Given the description of an element on the screen output the (x, y) to click on. 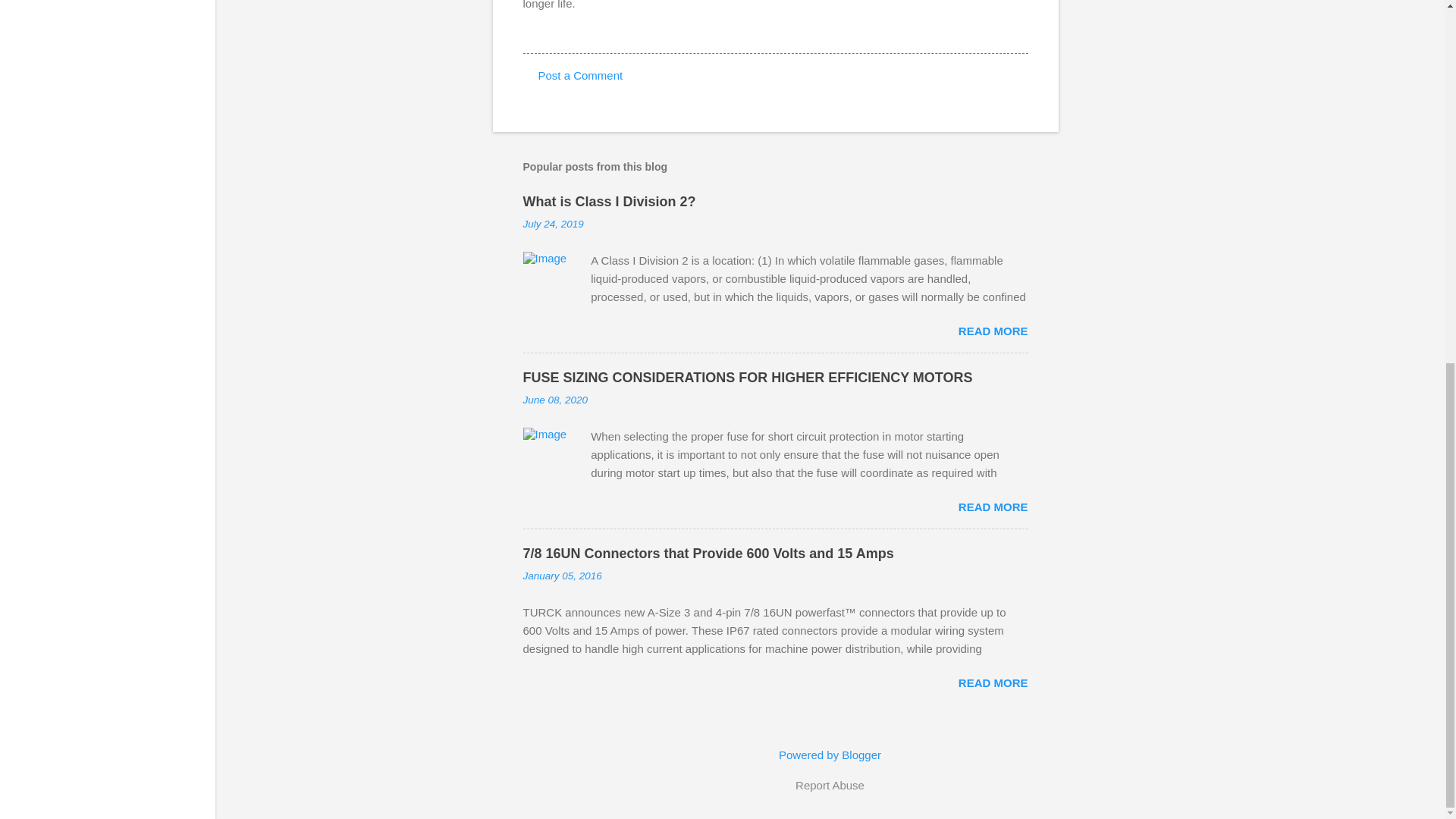
January 05, 2016 (562, 575)
What is Class I Division 2? (608, 201)
READ MORE (992, 330)
FUSE SIZING CONSIDERATIONS FOR HIGHER EFFICIENCY MOTORS (747, 377)
permanent link (552, 224)
READ MORE (992, 682)
Report Abuse (829, 785)
Powered by Blogger (829, 754)
July 24, 2019 (552, 224)
June 08, 2020 (555, 399)
